Given the description of an element on the screen output the (x, y) to click on. 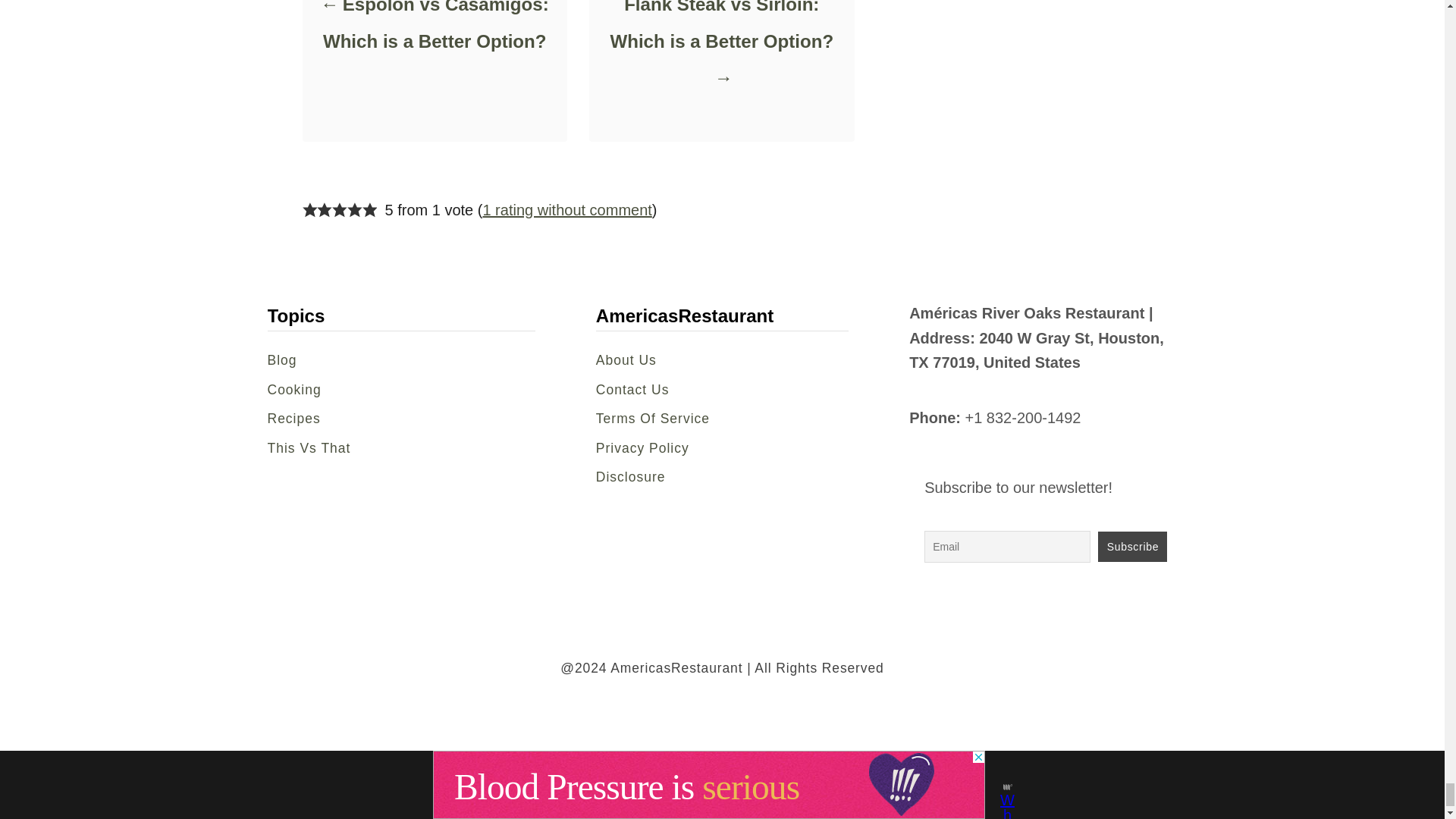
Subscribe (1132, 546)
